Given the description of an element on the screen output the (x, y) to click on. 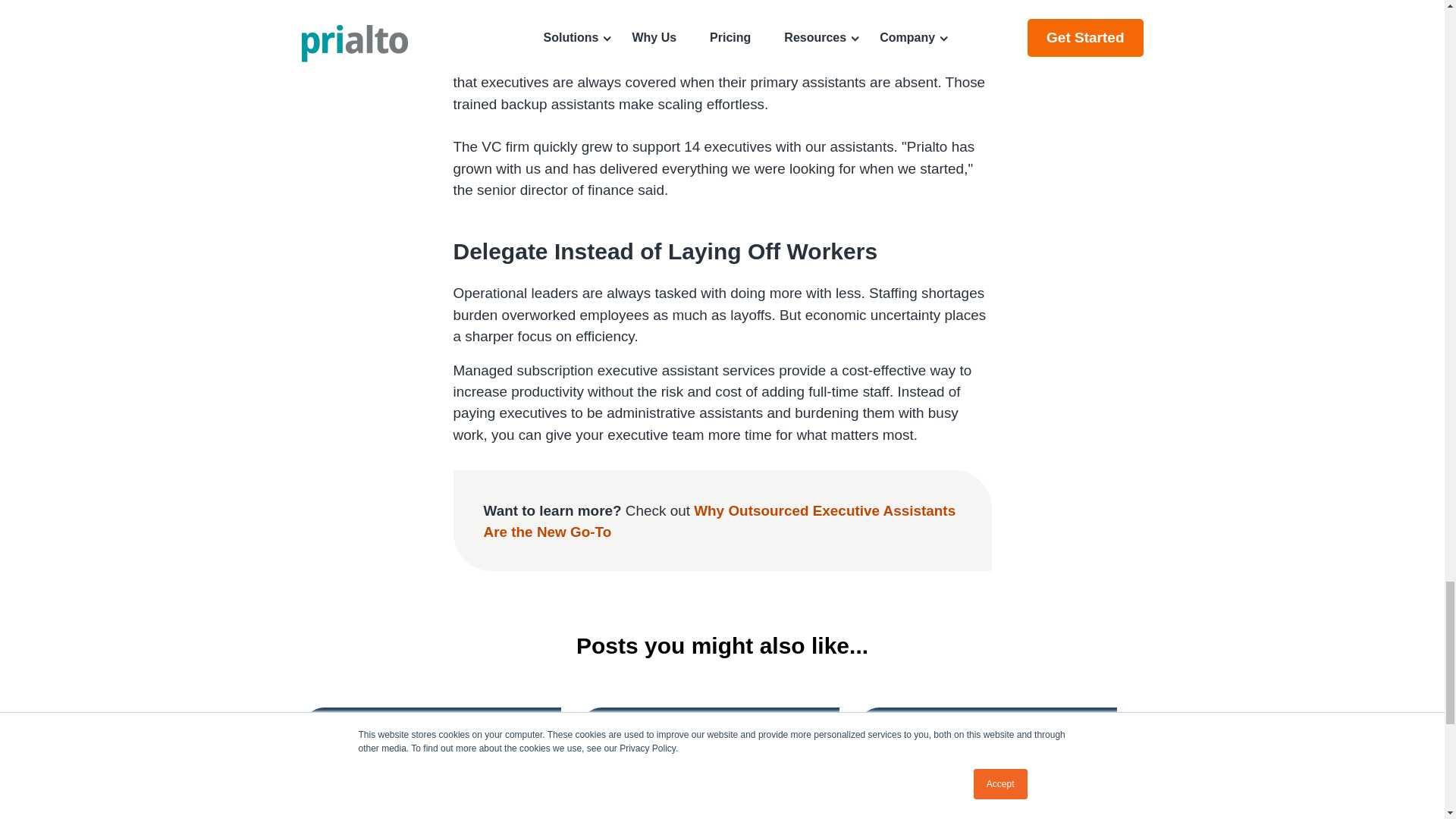
Why Outsourced Executive Assistants Are the New Go-To (719, 520)
11 Proven Benefits of Hiring a Virtual Assistant (427, 746)
